Given the description of an element on the screen output the (x, y) to click on. 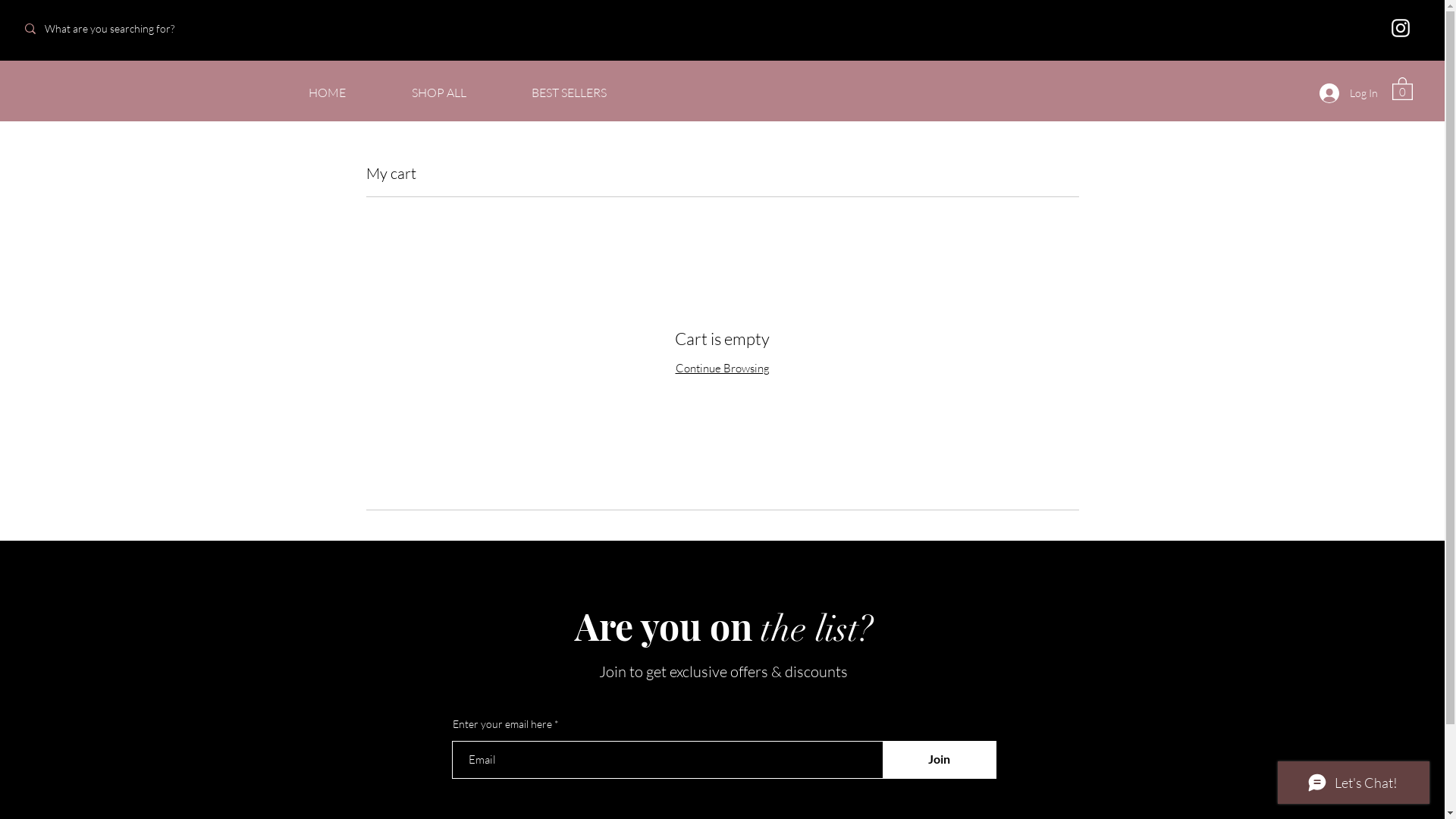
BEST SELLERS Element type: text (568, 92)
0 Element type: text (1402, 87)
SHOP ALL Element type: text (438, 92)
Join Element type: text (939, 759)
Log In Element type: text (1348, 92)
Continue Browsing Element type: text (721, 367)
HOME Element type: text (326, 92)
